Given the description of an element on the screen output the (x, y) to click on. 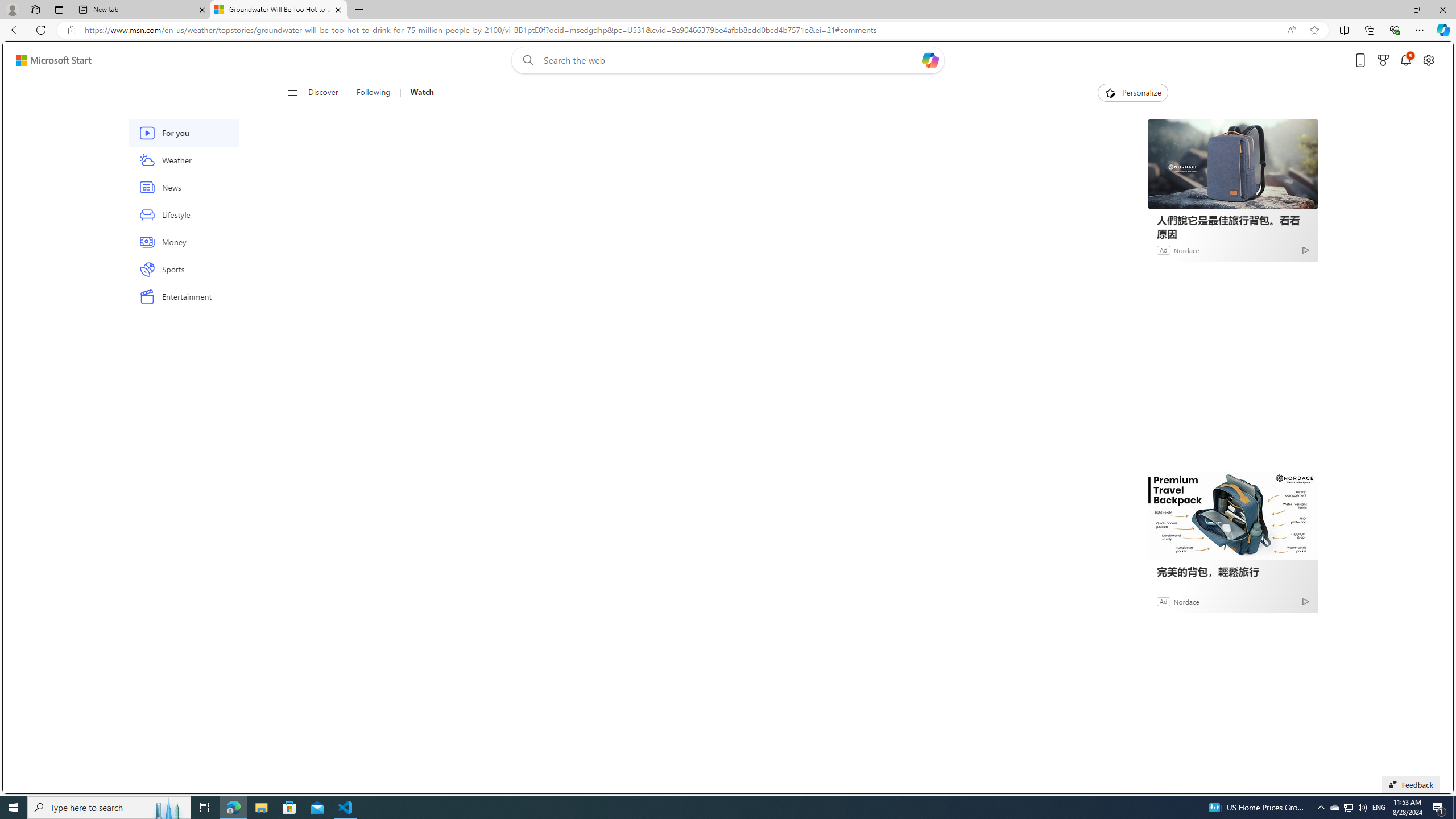
Class: button-glyph (292, 92)
Web search (526, 60)
Skip to footer (46, 59)
